Given the description of an element on the screen output the (x, y) to click on. 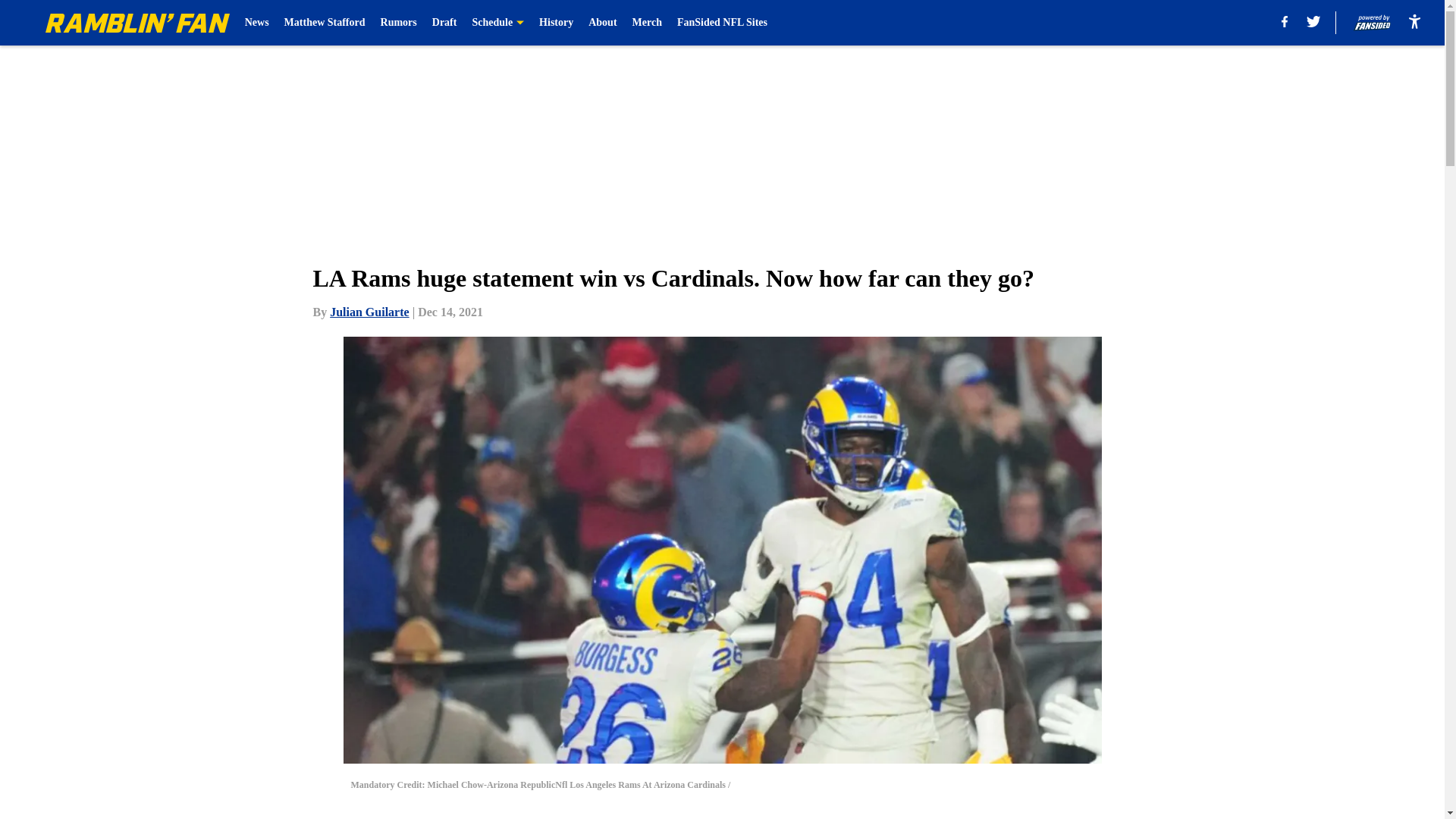
Matthew Stafford (324, 22)
FanSided NFL Sites (722, 22)
Julian Guilarte (369, 311)
History (555, 22)
About (601, 22)
Draft (444, 22)
News (256, 22)
Merch (646, 22)
Rumors (398, 22)
